Given the description of an element on the screen output the (x, y) to click on. 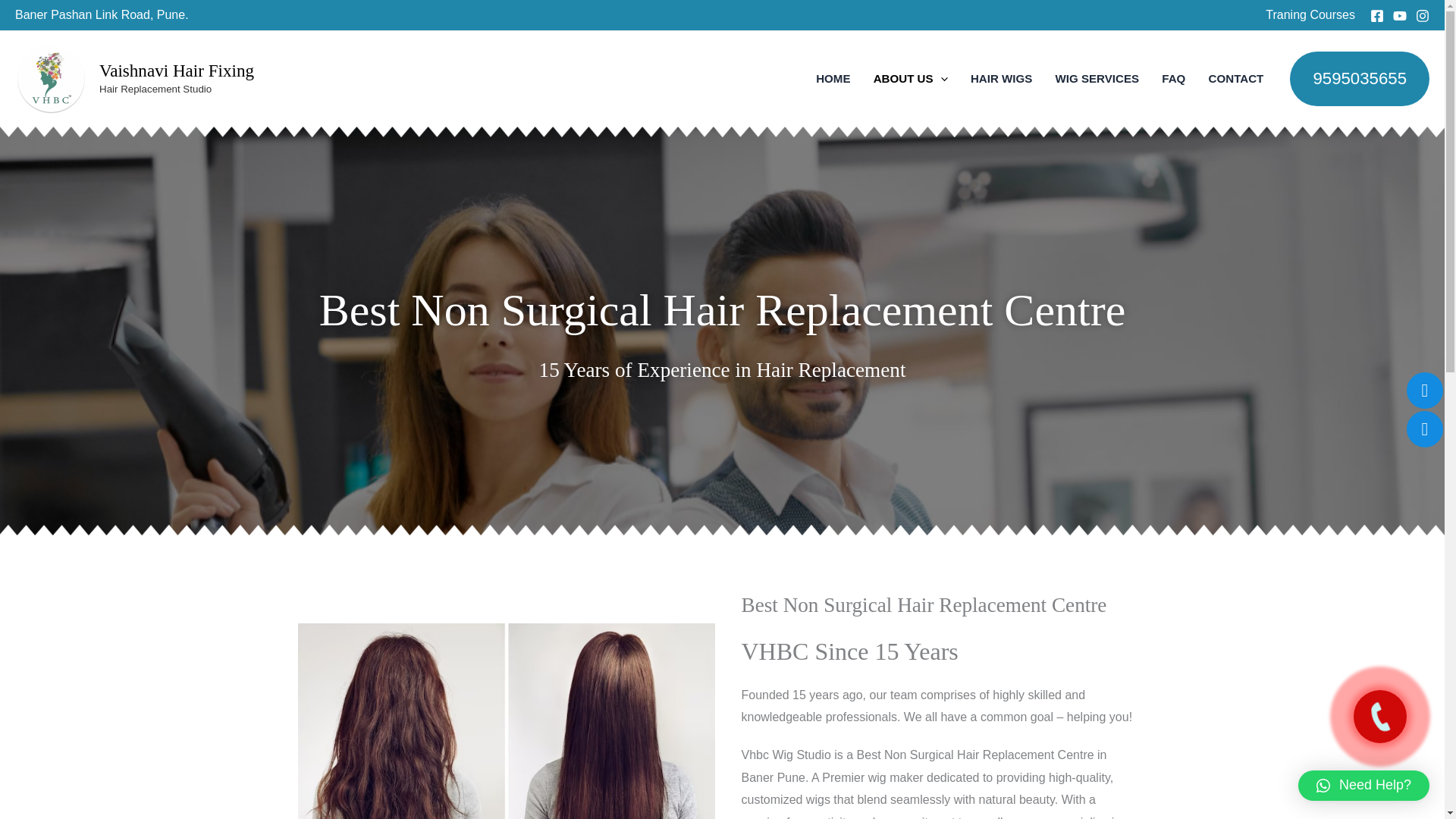
WIG SERVICES (1096, 78)
ABOUT US (910, 78)
VHBC Since 15 Years (849, 651)
Traning Courses (1310, 14)
Vaishnavi Hair Fixing (176, 70)
HOME (833, 78)
CONTACT (1235, 78)
Best Non Surgical Hair Replacement Centre (923, 604)
HAIR WIGS (1001, 78)
9595035655 (1359, 78)
Baner Pashan Link Road, Pune. (101, 14)
